Given the description of an element on the screen output the (x, y) to click on. 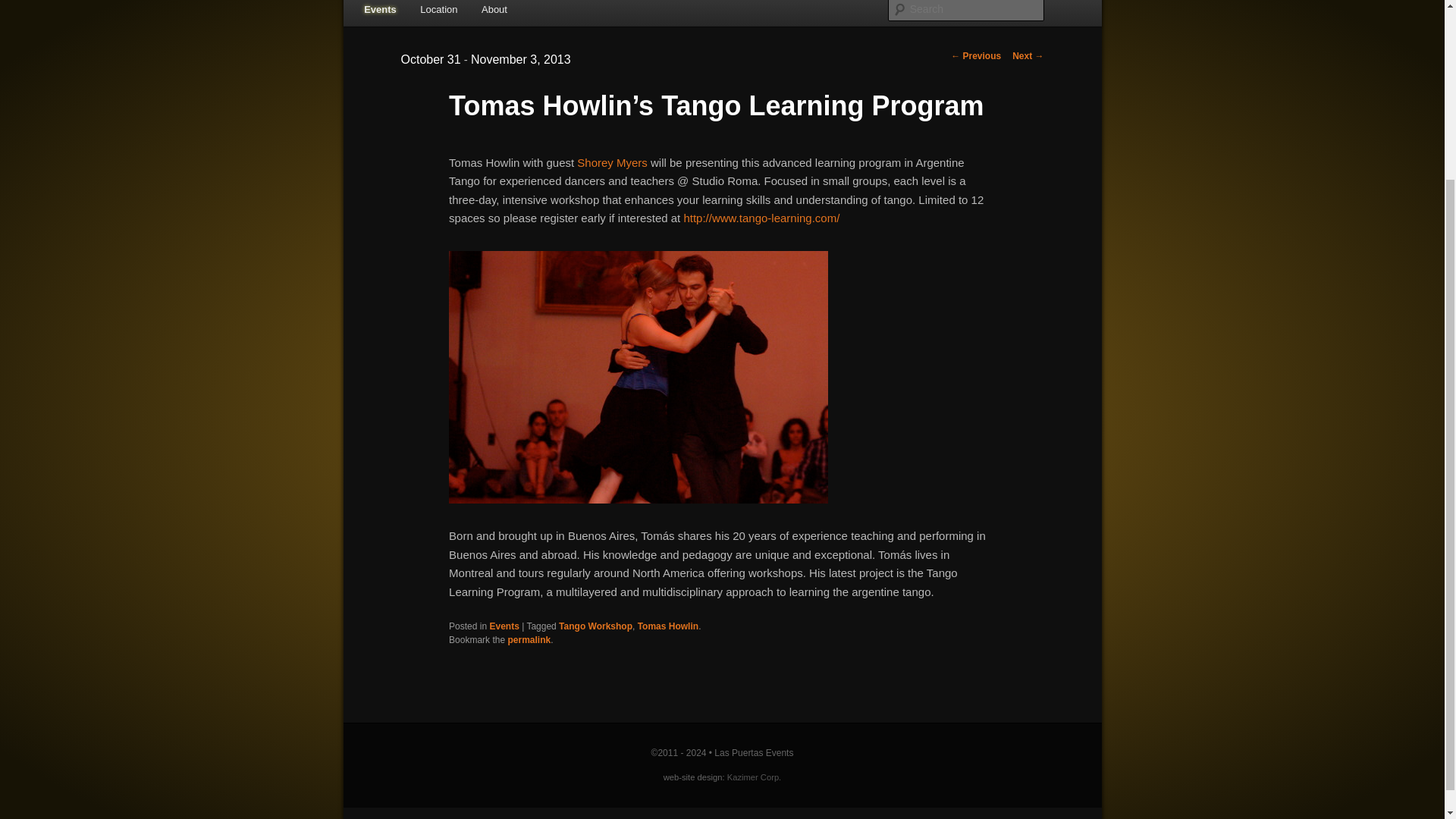
About (493, 12)
Tomas Howlin (667, 625)
Events (379, 12)
About (493, 12)
Location (439, 12)
Tango Workshop (595, 625)
Upcoming Events at Las Puertas Events Center (379, 12)
Kazimer Corp. (753, 777)
permalink (528, 639)
Shorey Myers (611, 162)
Events (503, 625)
Location (439, 12)
